Given the description of an element on the screen output the (x, y) to click on. 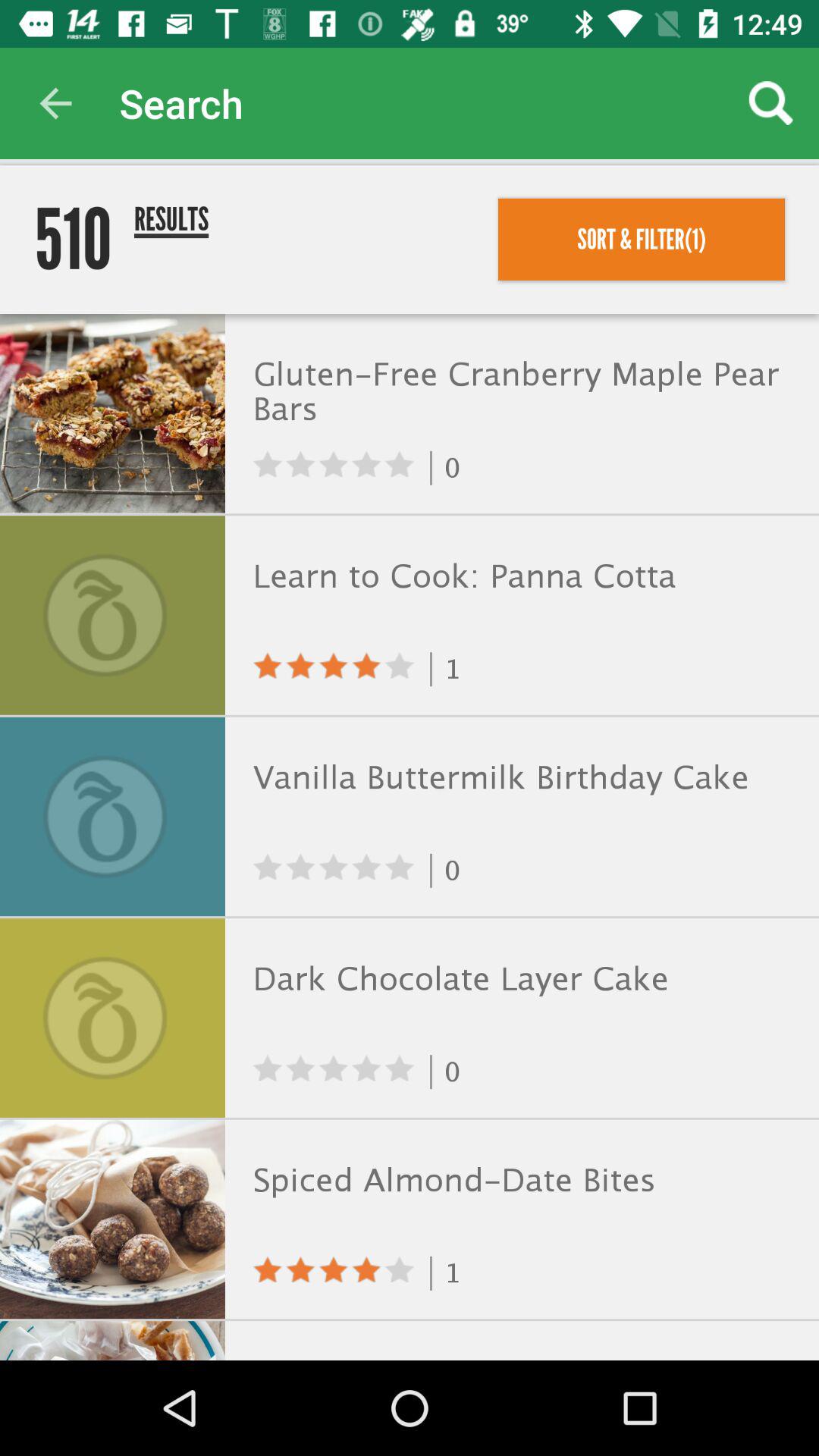
tap the sort & filter(1) item (641, 239)
